Given the description of an element on the screen output the (x, y) to click on. 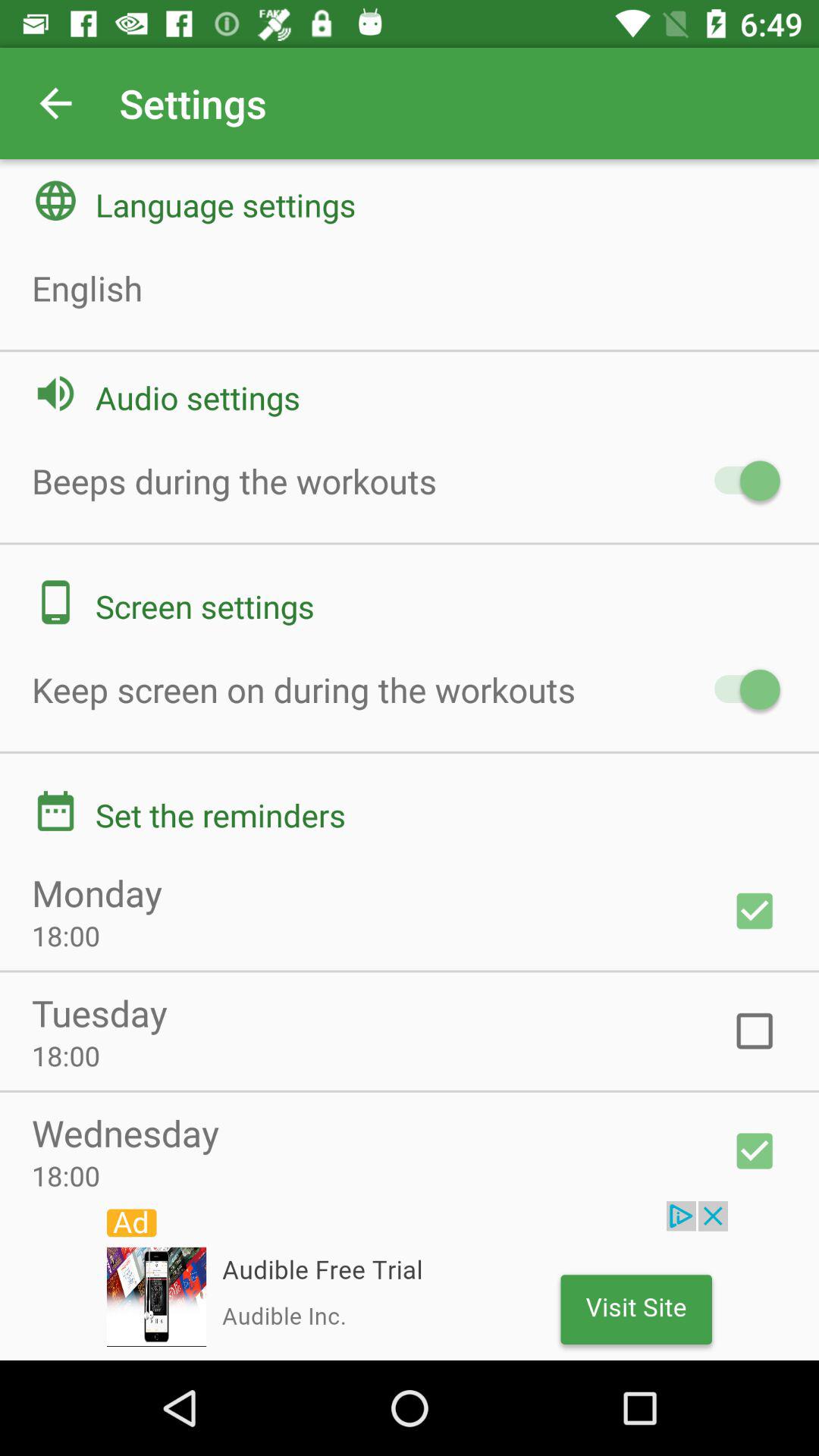
select the box (754, 1030)
